Given the description of an element on the screen output the (x, y) to click on. 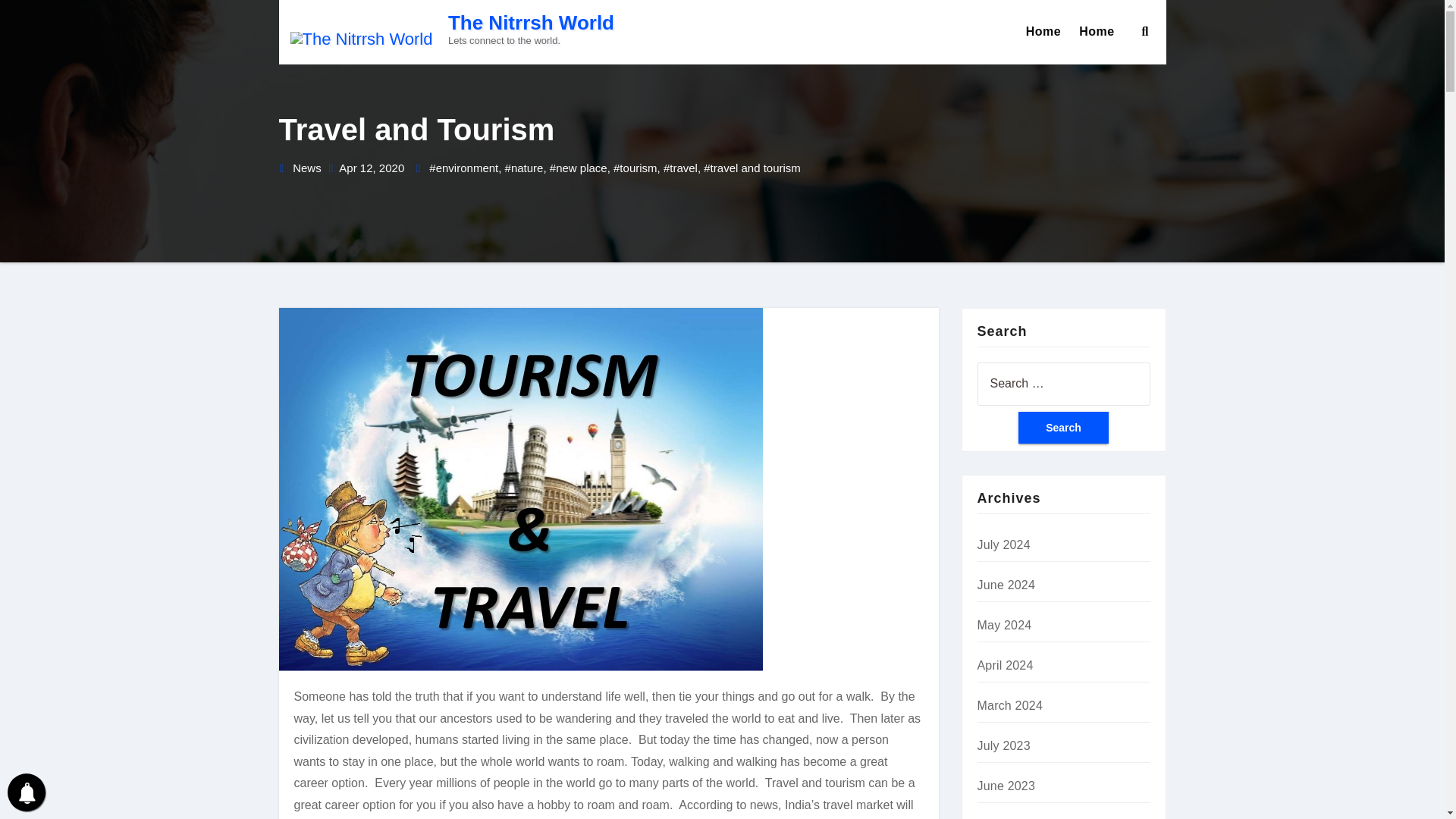
Home (1096, 31)
Search (1062, 427)
Search (1062, 427)
The Nitrrsh World (531, 22)
May 2024 (1003, 625)
July 2024 (1002, 544)
Home (1043, 31)
July 2023 (1002, 745)
Search (1062, 427)
Home (1043, 31)
June 2024 (1005, 584)
News (306, 168)
June 2023 (1005, 785)
March 2024 (1009, 705)
April 2024 (1004, 665)
